Given the description of an element on the screen output the (x, y) to click on. 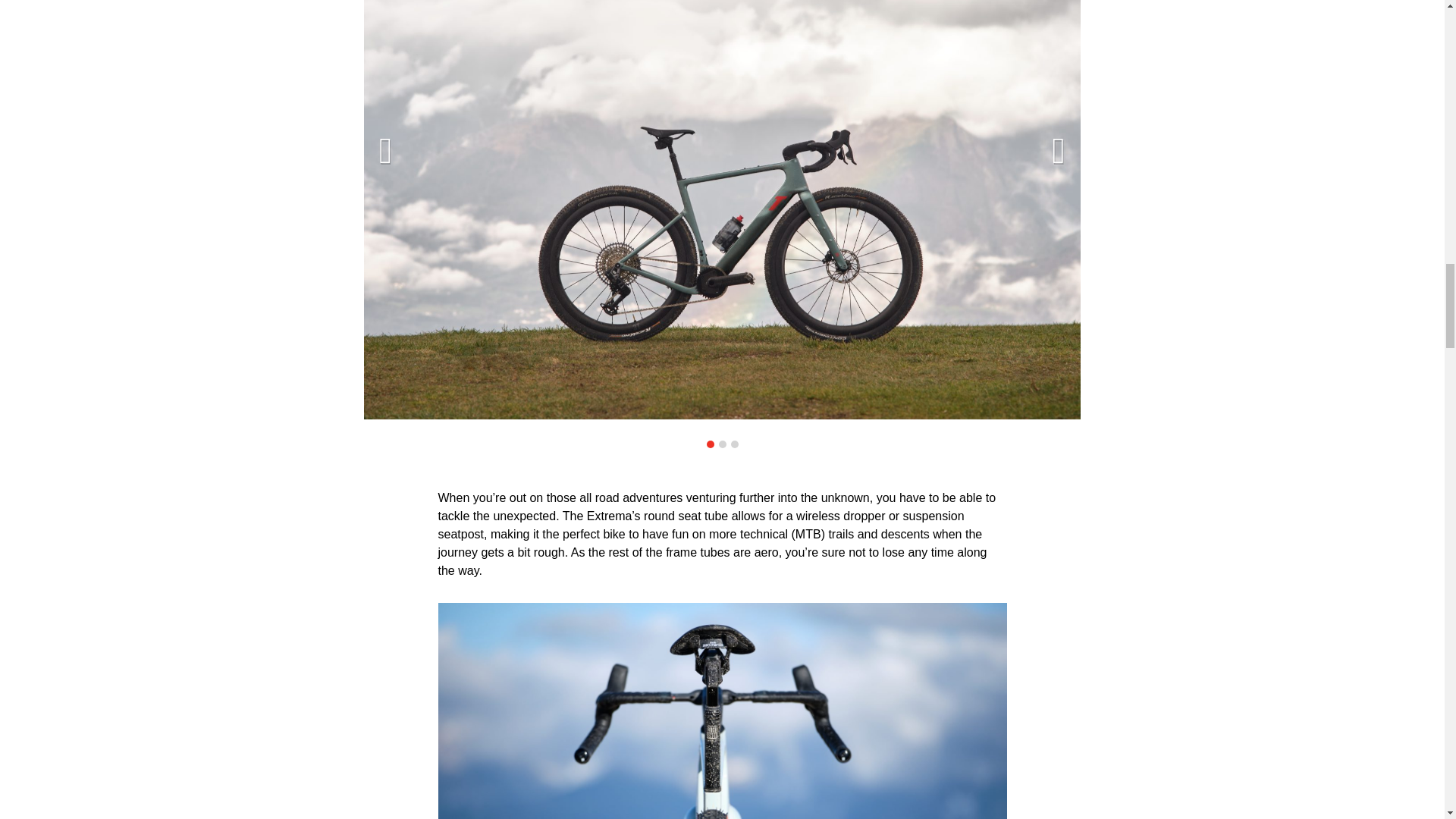
3 (734, 443)
1 (710, 443)
2 (722, 443)
